Given the description of an element on the screen output the (x, y) to click on. 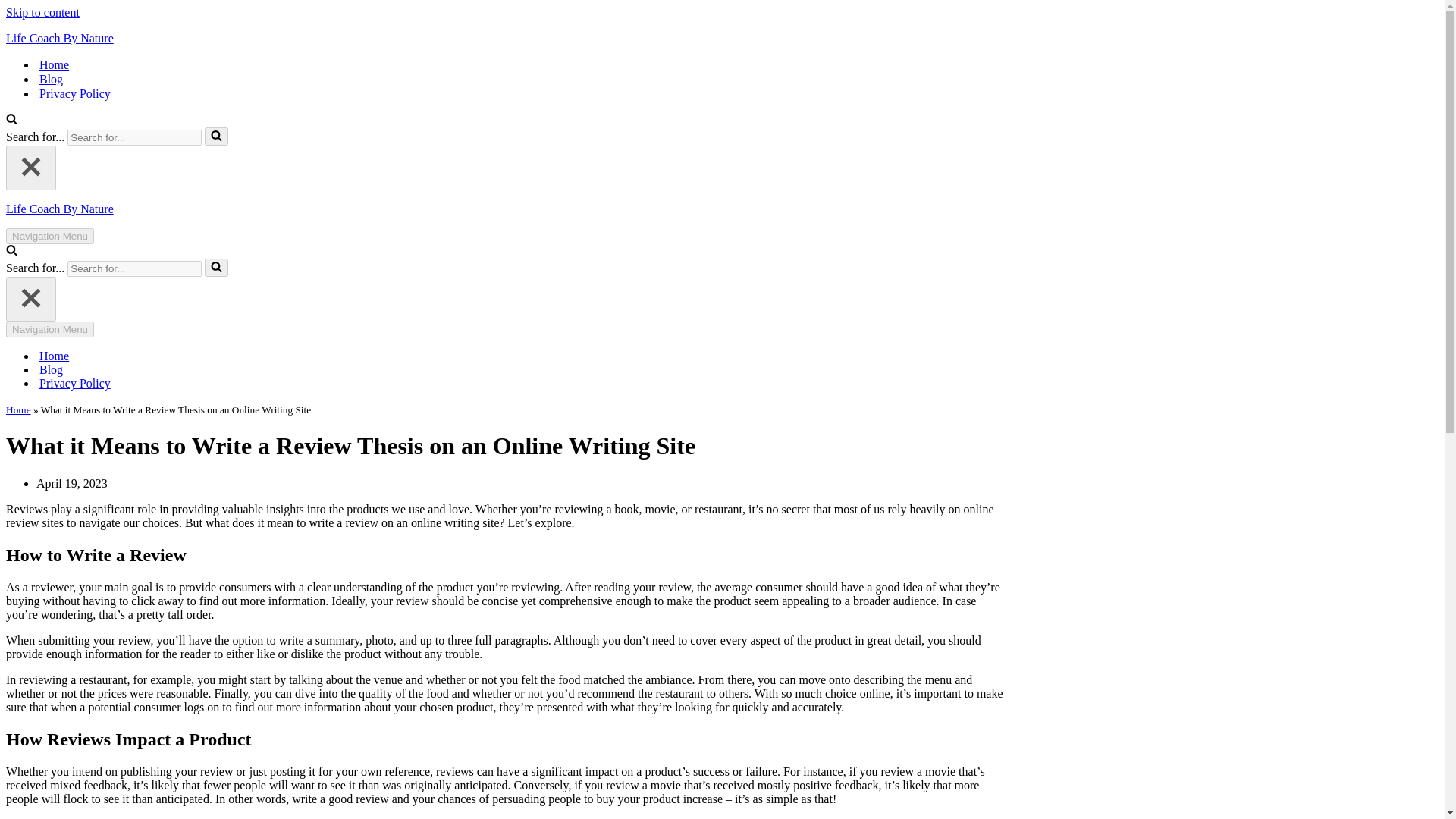
Privacy Policy (74, 93)
Blog (50, 79)
Blog (50, 369)
Home (53, 356)
Home (53, 64)
Navigation Menu (49, 236)
Navigation Menu (49, 329)
Skip to content (42, 11)
Privacy Policy (74, 383)
Home (17, 409)
